Given the description of an element on the screen output the (x, y) to click on. 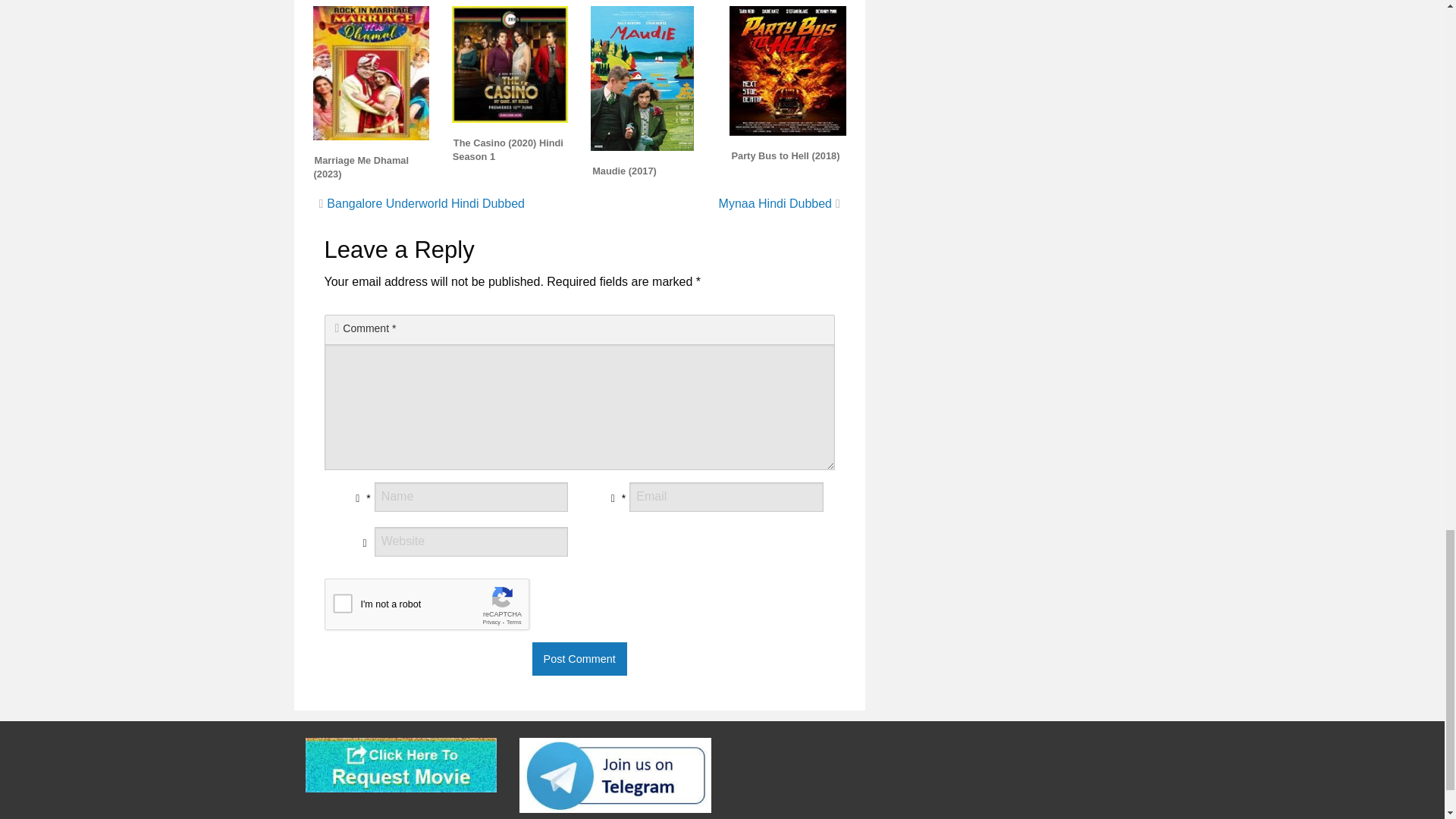
Post Comment (579, 658)
